Given the description of an element on the screen output the (x, y) to click on. 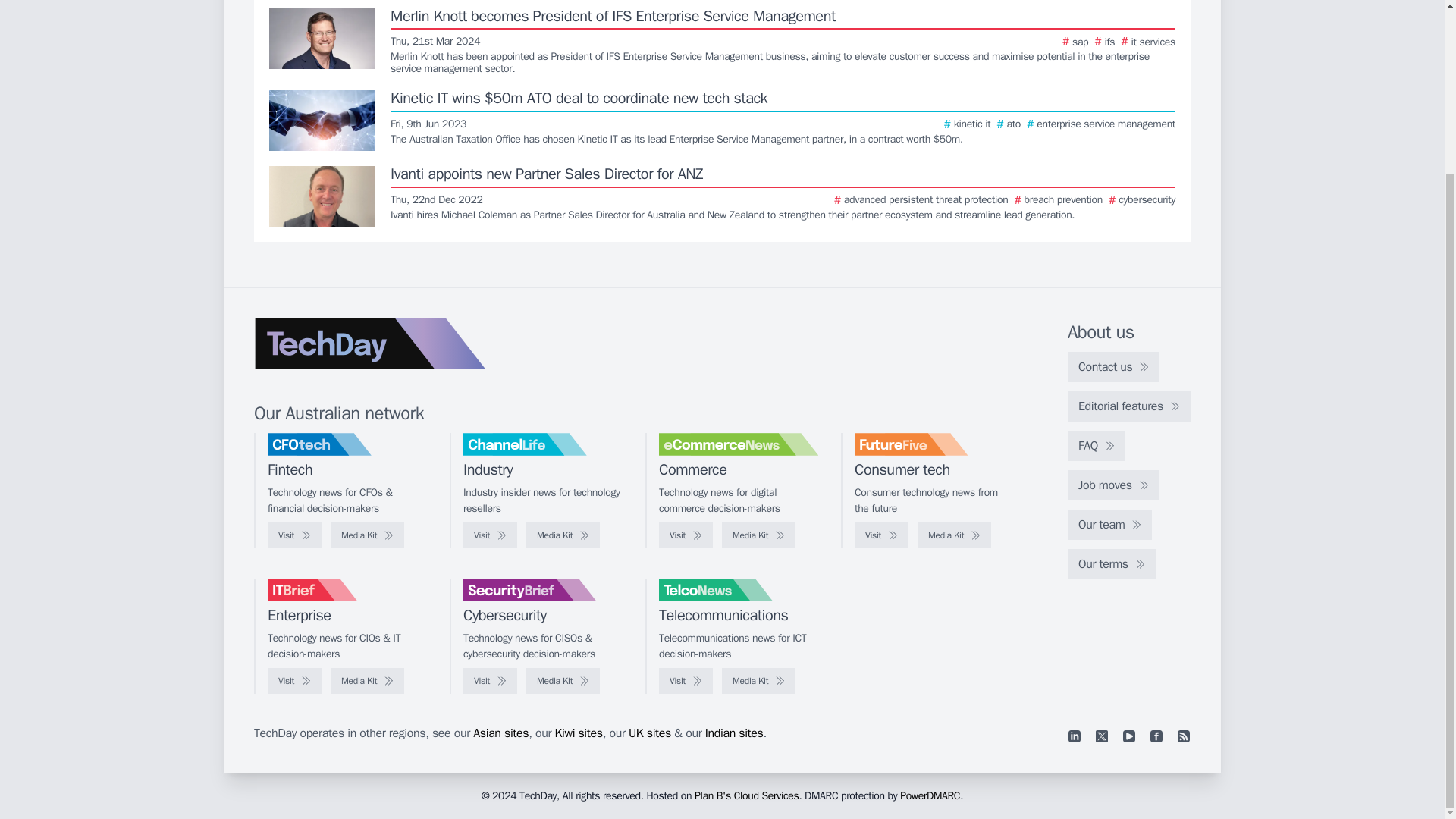
Contact us (1112, 367)
Our terms (1111, 563)
Visit (686, 534)
Job moves (1112, 485)
Visit (686, 680)
Visit (881, 534)
Media Kit (954, 534)
Media Kit (367, 534)
Media Kit (562, 534)
Our team (1109, 524)
Media Kit (562, 680)
Visit (294, 534)
Media Kit (758, 534)
Media Kit (758, 680)
UK sites (649, 733)
